Given the description of an element on the screen output the (x, y) to click on. 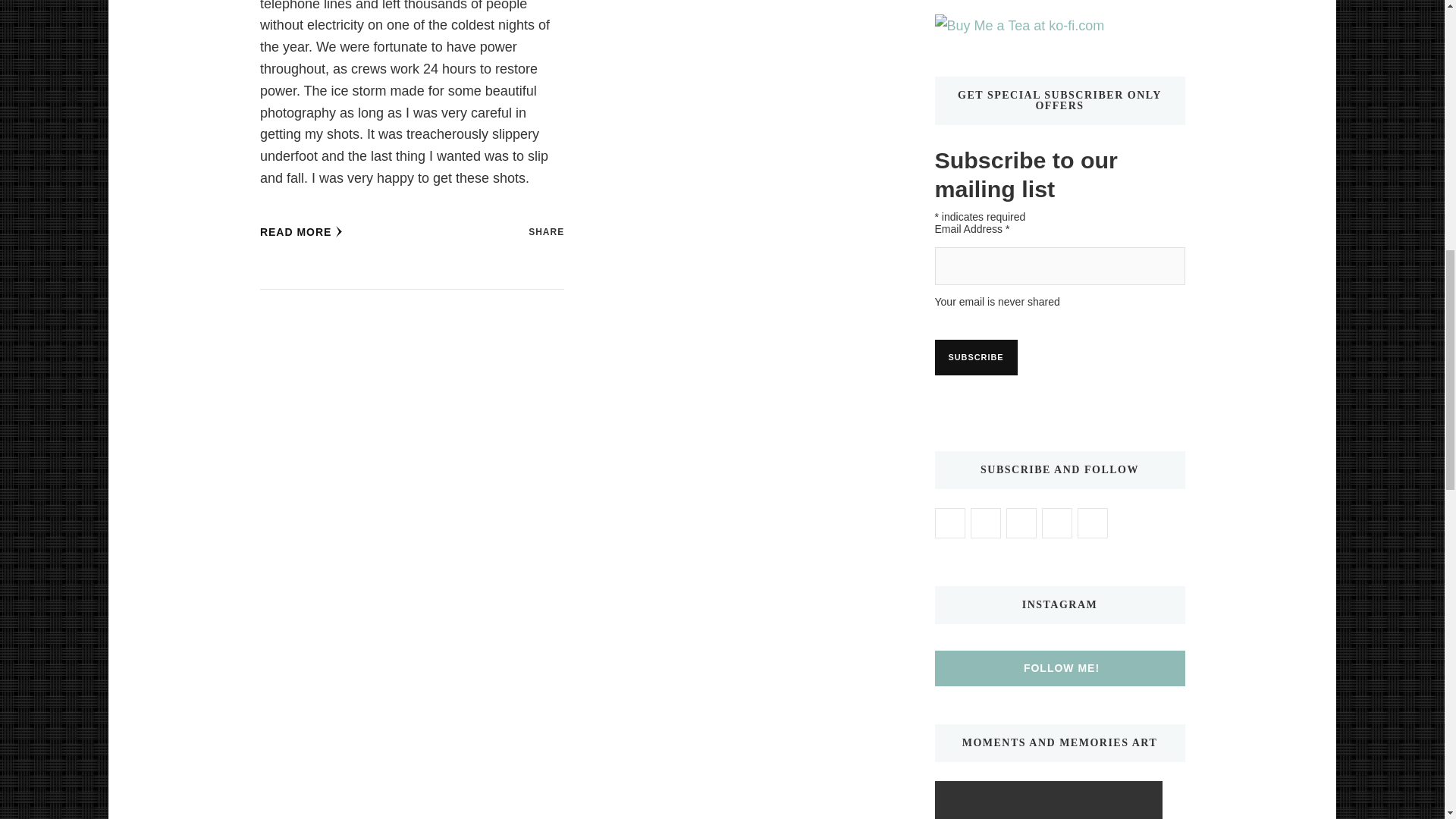
READ MORE (301, 231)
SHARE (546, 231)
Subscribe (975, 357)
